Given the description of an element on the screen output the (x, y) to click on. 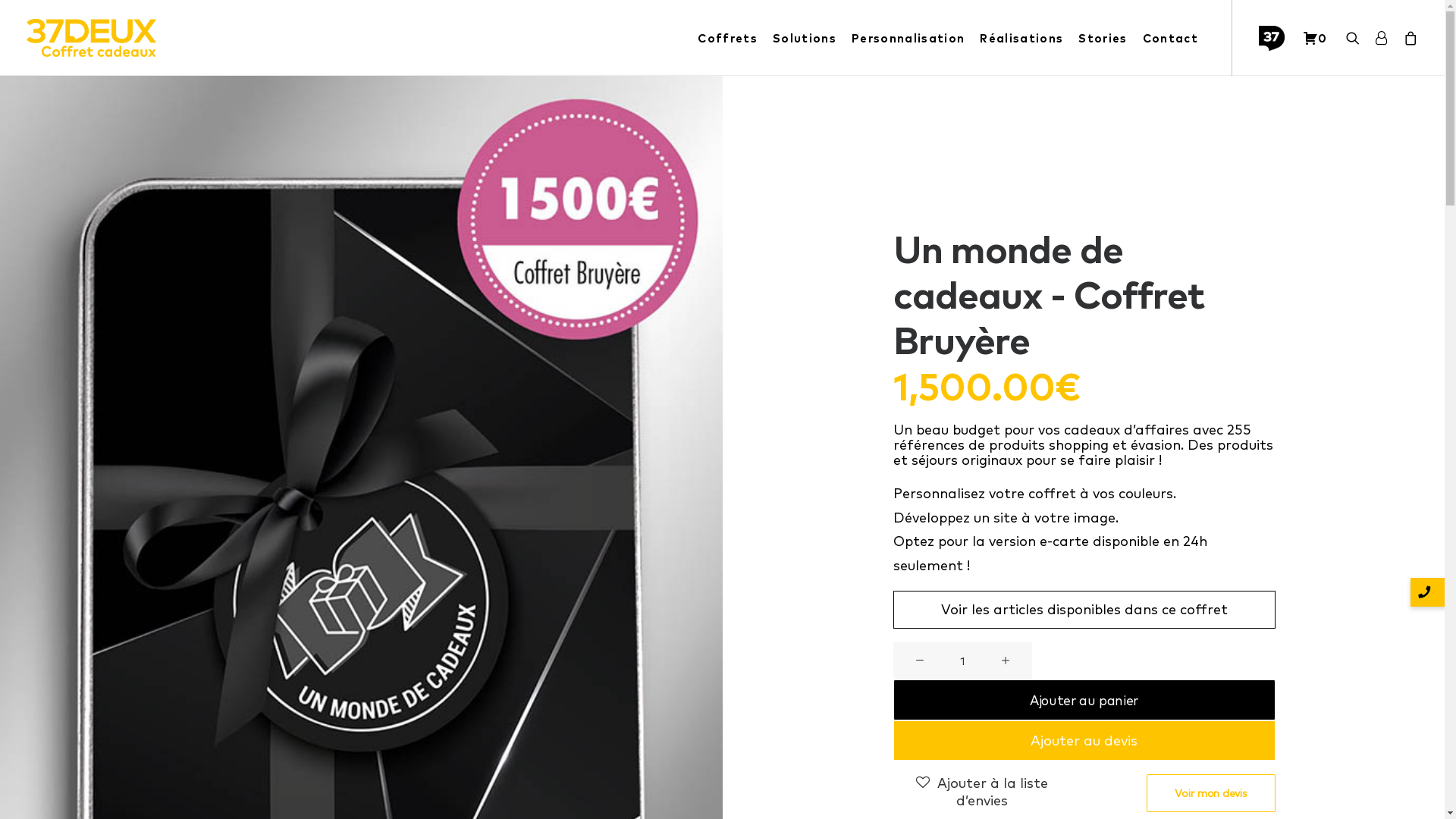
Voir les articles disponibles dans ce coffret Element type: text (1084, 609)
account Element type: hover (1380, 37)
Une solution 37DEUX Element type: hover (1276, 37)
Coffrets Element type: text (727, 37)
0 Element type: text (1314, 37)
Ajouter au devis Element type: text (1084, 740)
Personnalisation Element type: text (907, 37)
Stories Element type: text (1102, 37)
cart Element type: hover (1407, 37)
Contact Element type: text (1170, 37)
Voir mon devis Element type: text (1210, 793)
Ajouter au panier Element type: text (1084, 699)
Solutions Element type: text (804, 37)
